Given the description of an element on the screen output the (x, y) to click on. 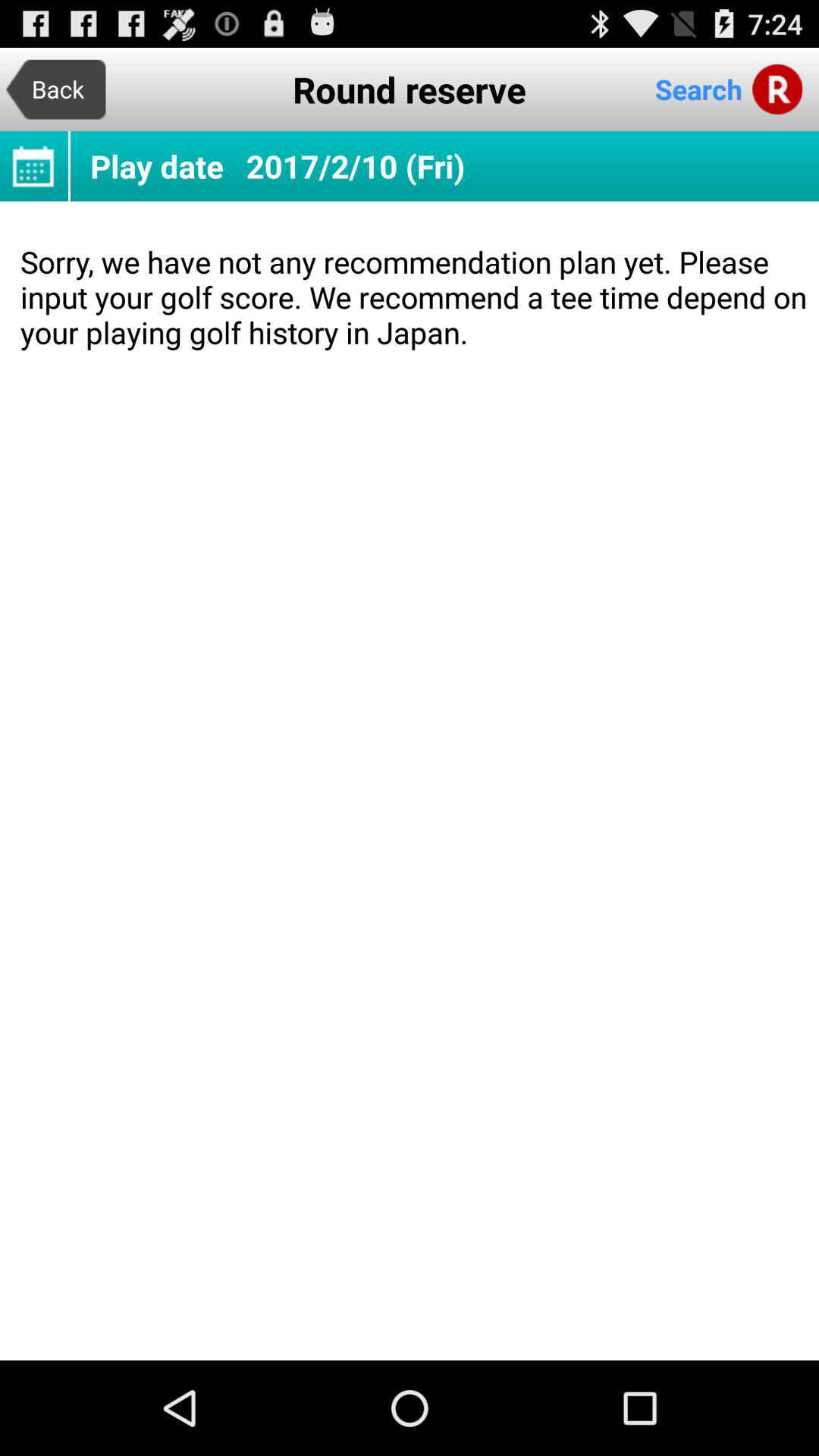
select the back (55, 89)
